Given the description of an element on the screen output the (x, y) to click on. 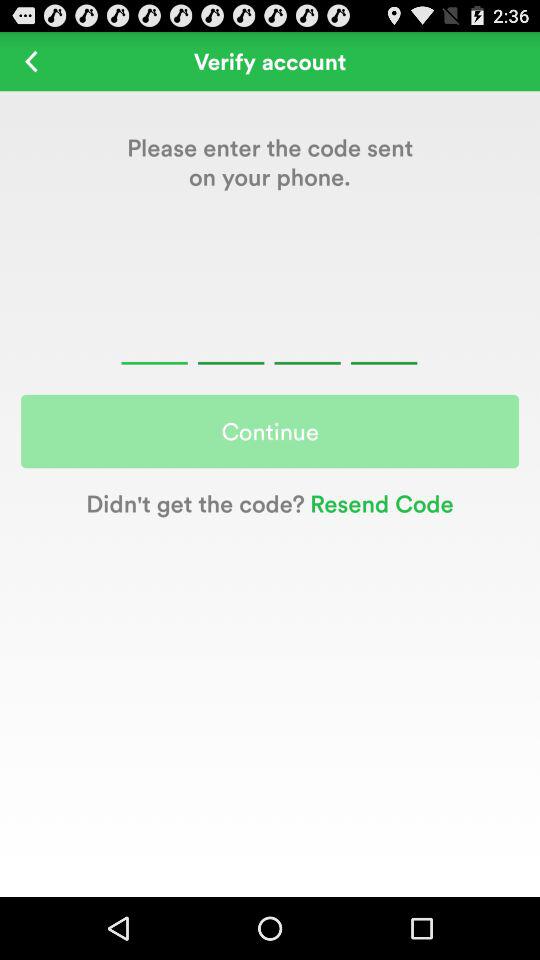
click the item below continue (378, 502)
